Given the description of an element on the screen output the (x, y) to click on. 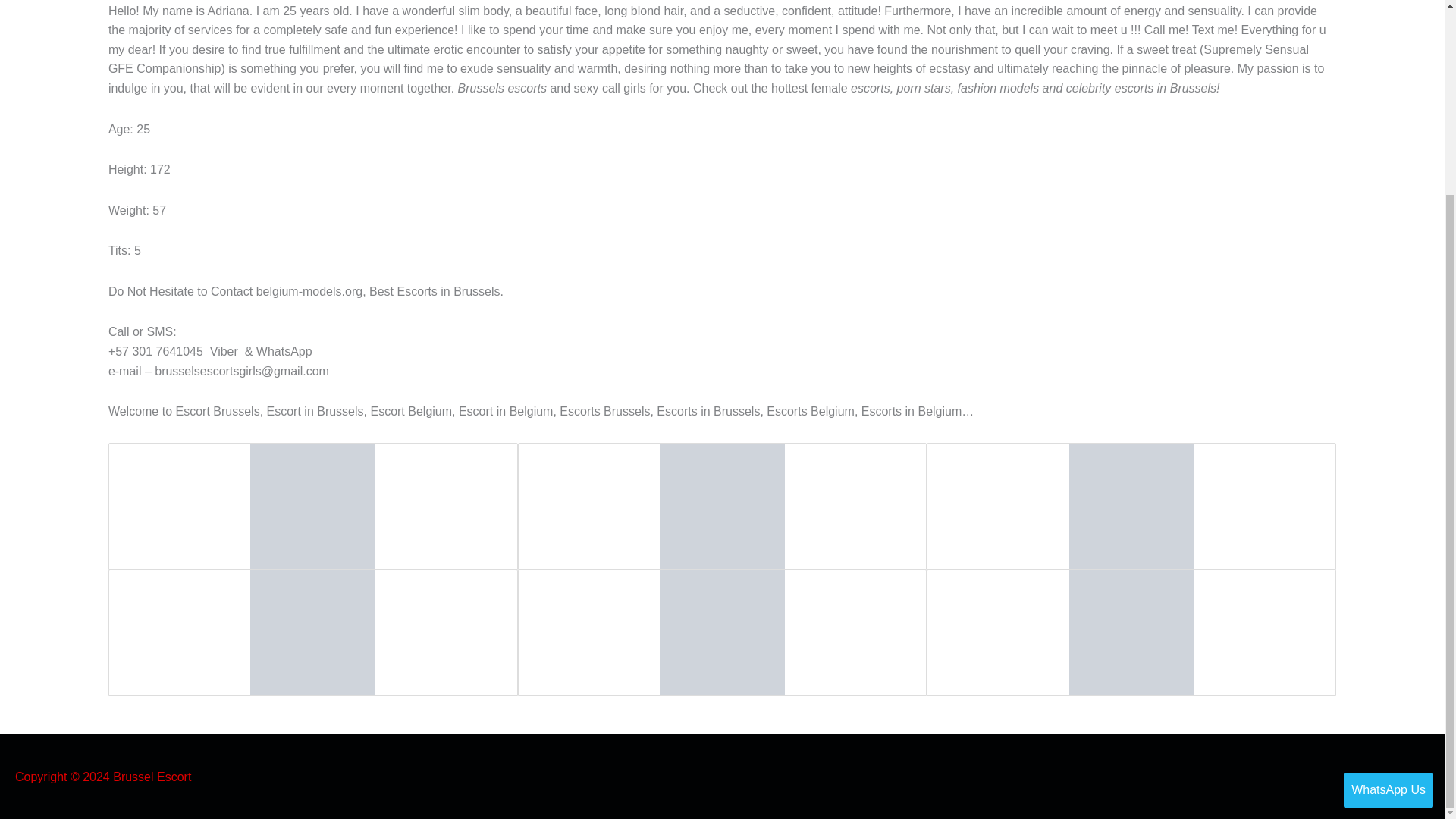
WhatsApp Us (1387, 544)
